Given the description of an element on the screen output the (x, y) to click on. 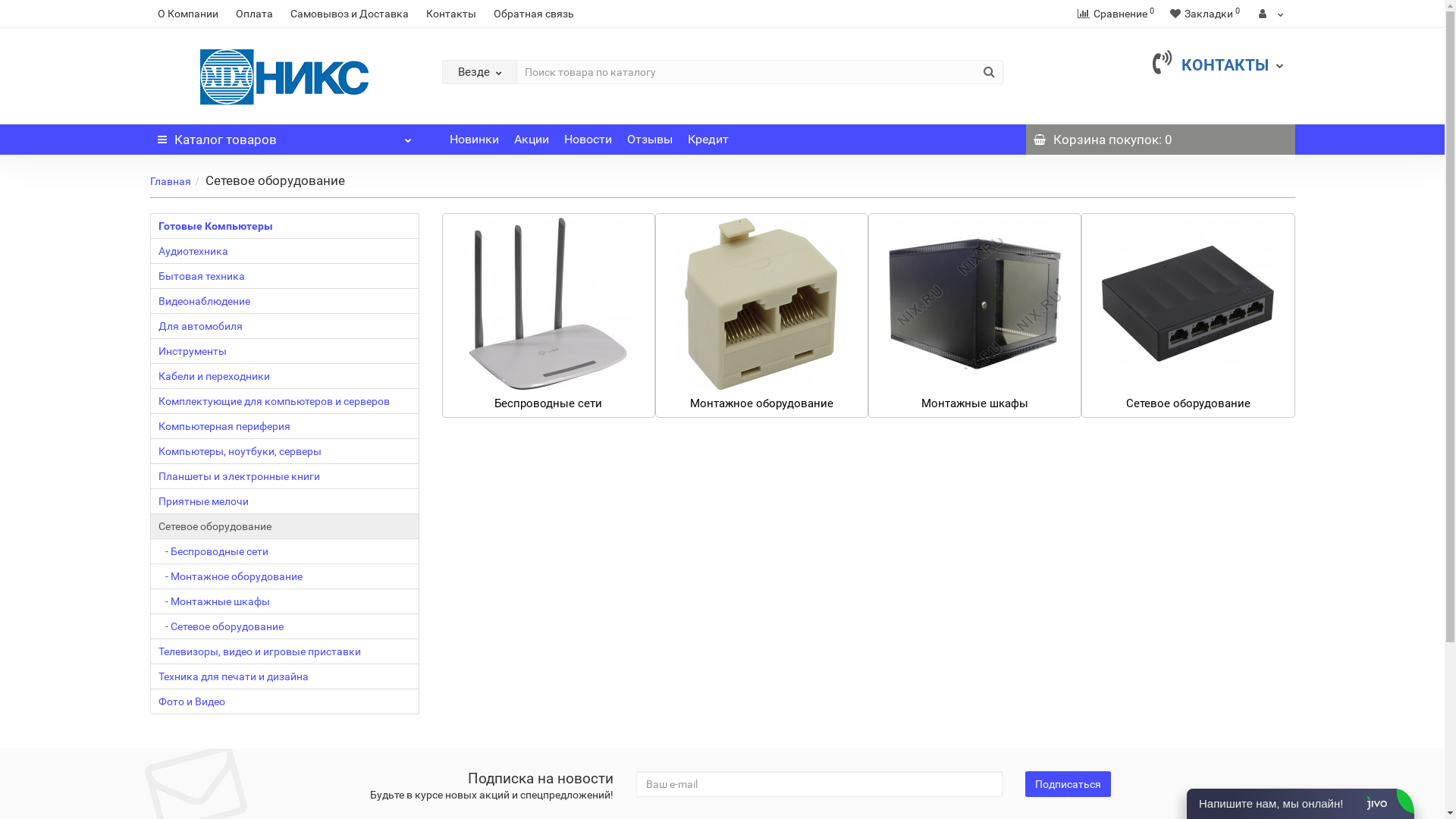
nixpro.by Element type: hover (284, 76)
